Given the description of an element on the screen output the (x, y) to click on. 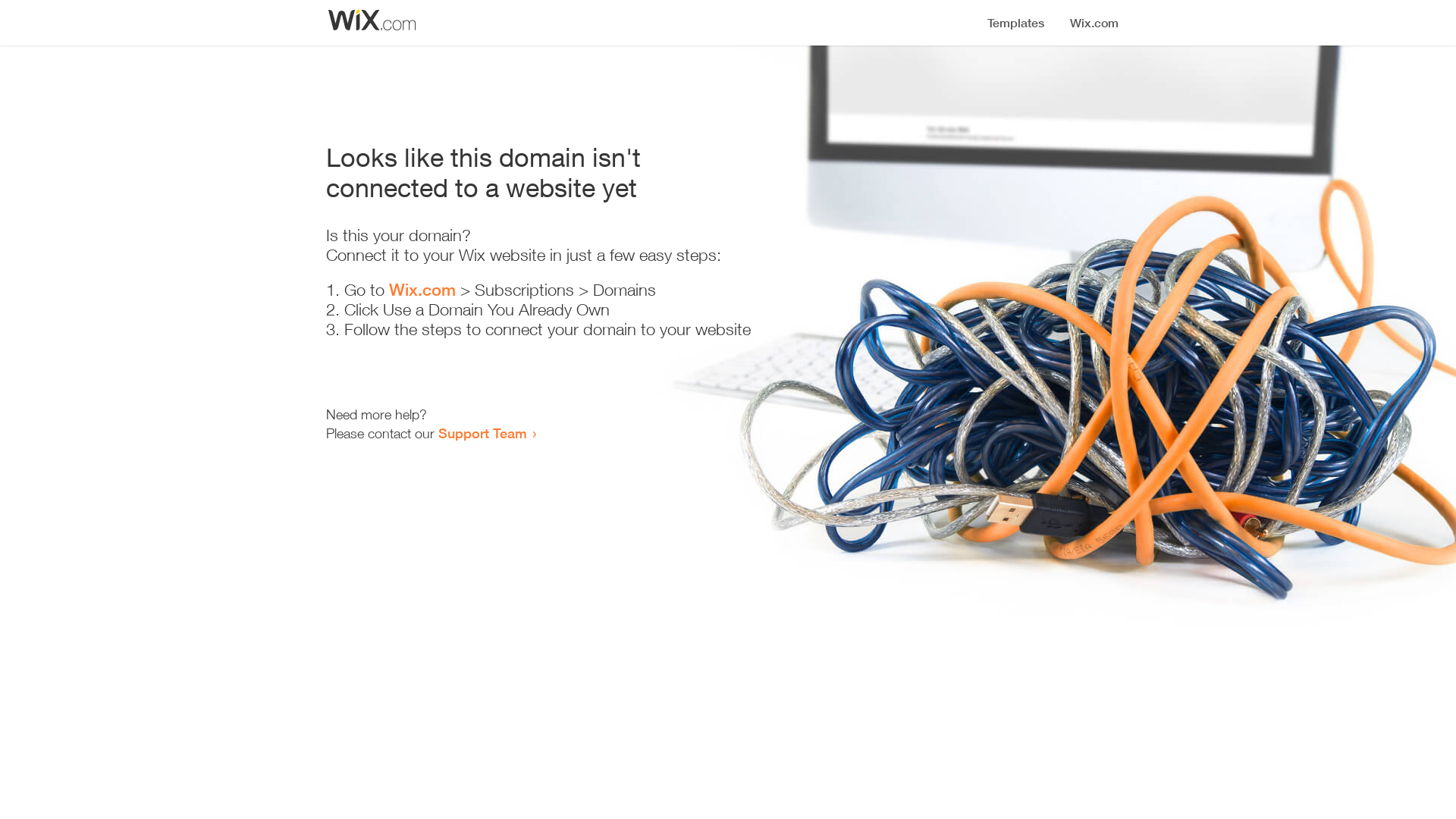
Support Team Element type: text (482, 432)
Wix.com Element type: text (422, 289)
